Given the description of an element on the screen output the (x, y) to click on. 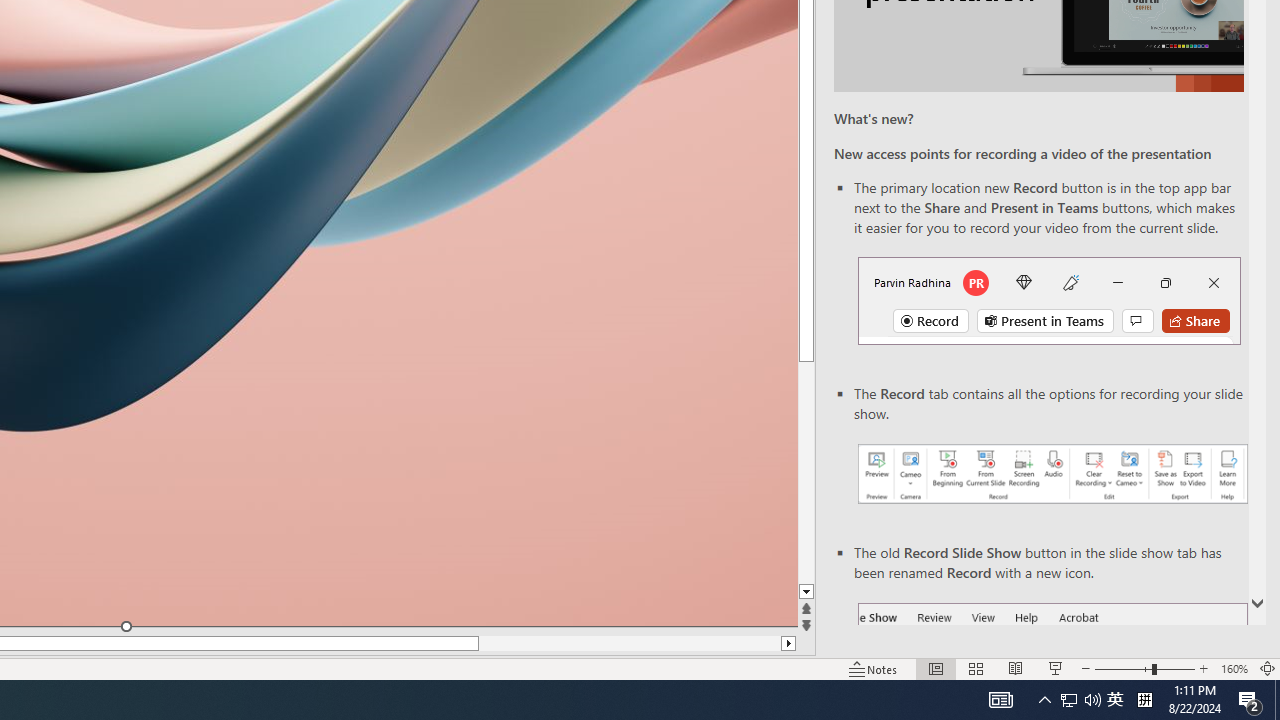
Zoom In (1204, 668)
Zoom to Fit  (1267, 668)
Slide Sorter (975, 668)
Reading View (1015, 668)
Normal (936, 668)
Zoom (1144, 668)
Line down (806, 592)
Zoom 160% (1234, 668)
Page down (806, 472)
Record button in top bar (1049, 300)
Notes  (874, 668)
Zoom Out (1123, 668)
